Given the description of an element on the screen output the (x, y) to click on. 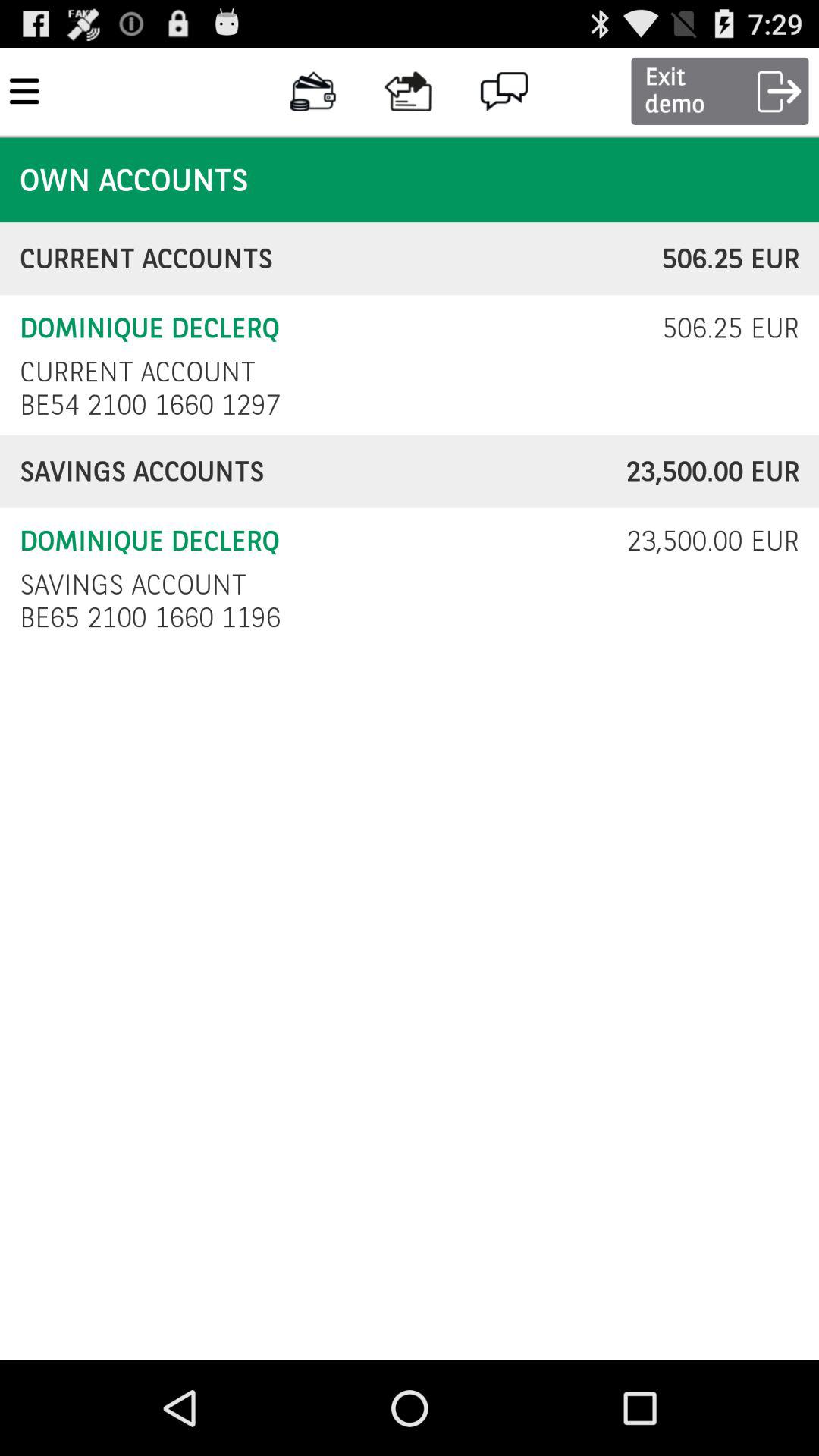
swipe to the savings account item (132, 584)
